Given the description of an element on the screen output the (x, y) to click on. 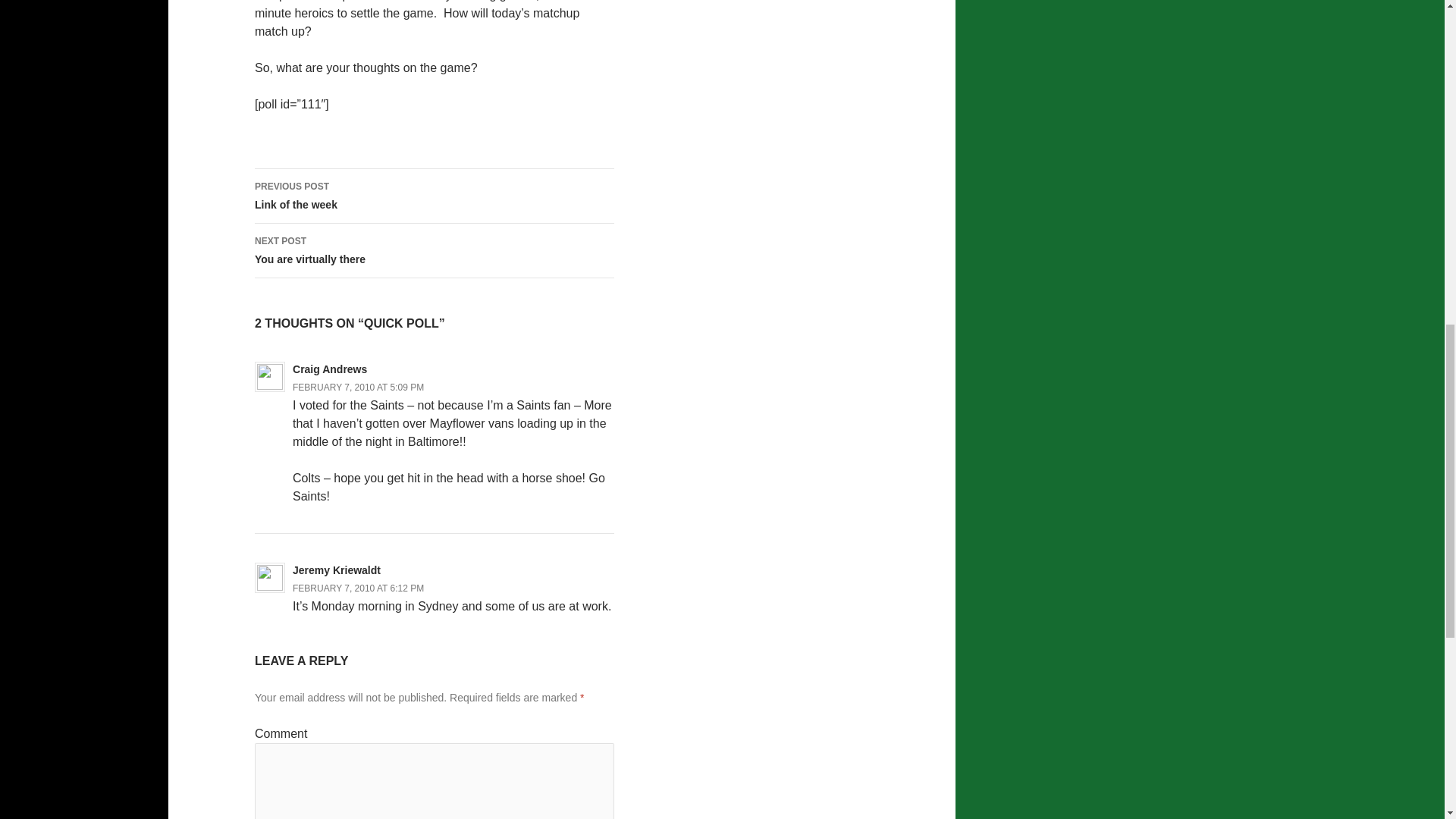
FEBRUARY 7, 2010 AT 6:12 PM (357, 588)
Craig Andrews (329, 369)
FEBRUARY 7, 2010 AT 5:09 PM (434, 250)
